Given the description of an element on the screen output the (x, y) to click on. 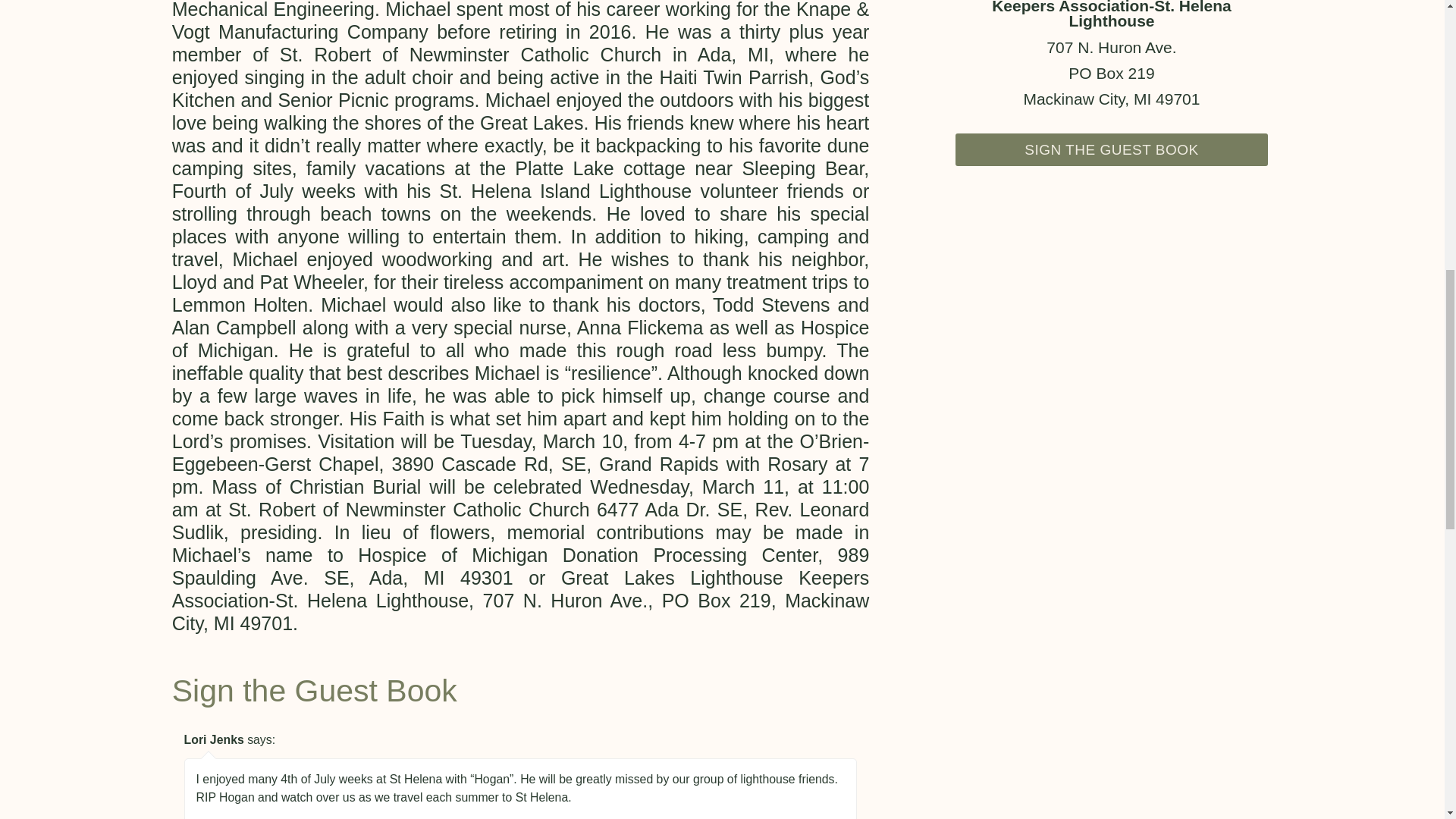
SIGN THE GUEST BOOK (1111, 149)
